Given the description of an element on the screen output the (x, y) to click on. 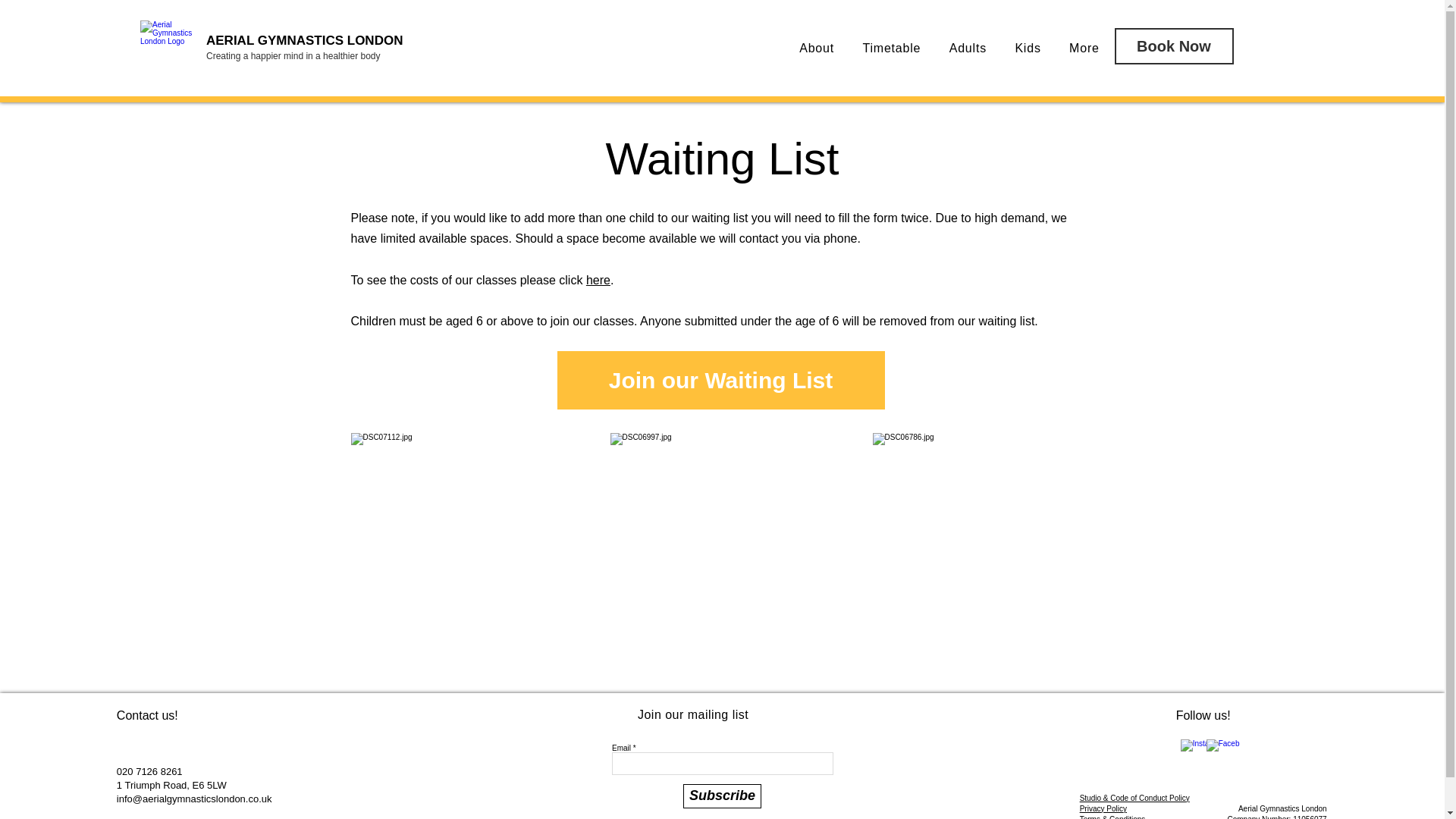
here (598, 279)
About (817, 49)
Join our Waiting List (719, 380)
Timetable (891, 49)
Book Now (1174, 45)
